Given the description of an element on the screen output the (x, y) to click on. 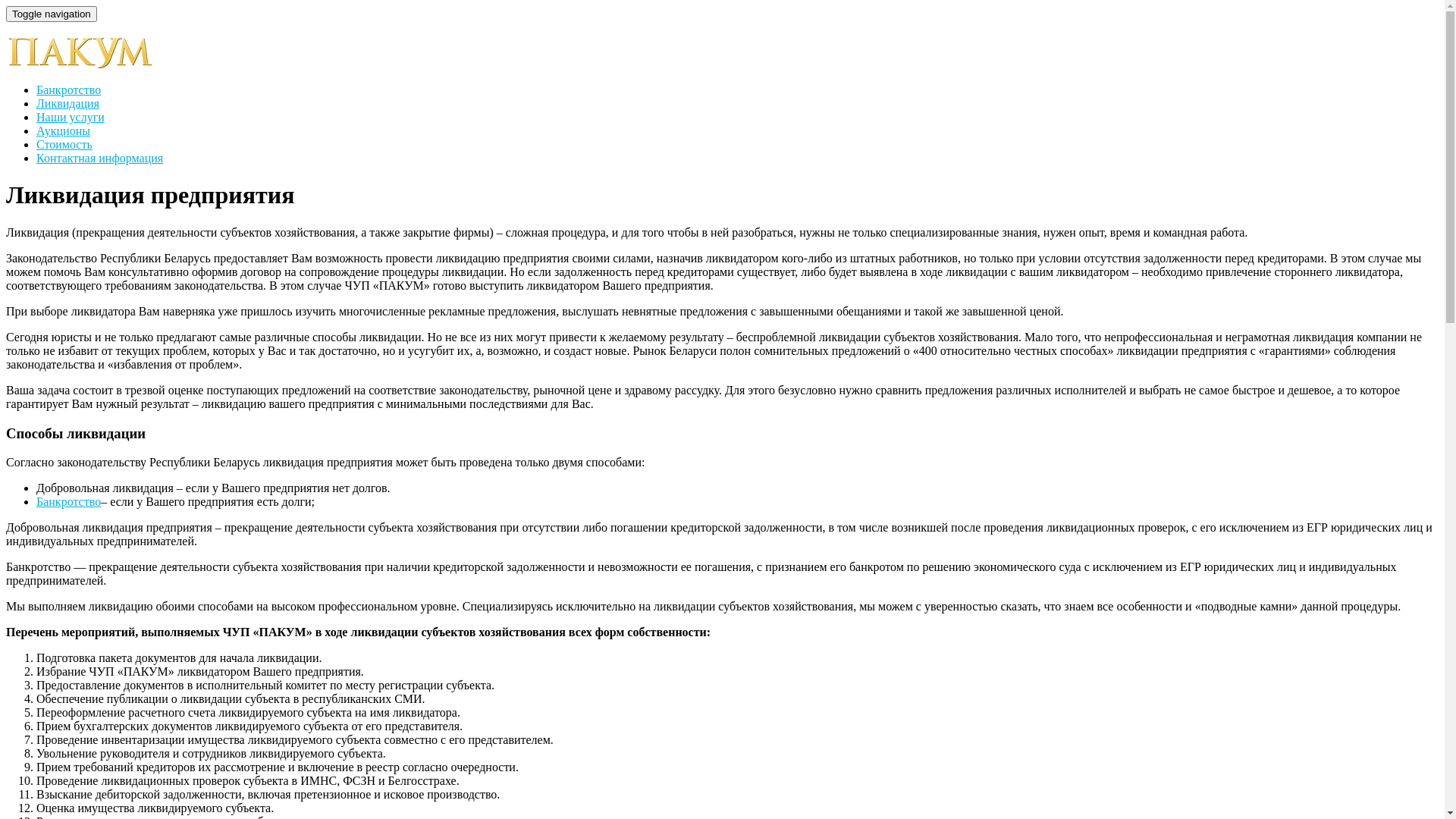
Toggle navigation Element type: text (51, 13)
